Given the description of an element on the screen output the (x, y) to click on. 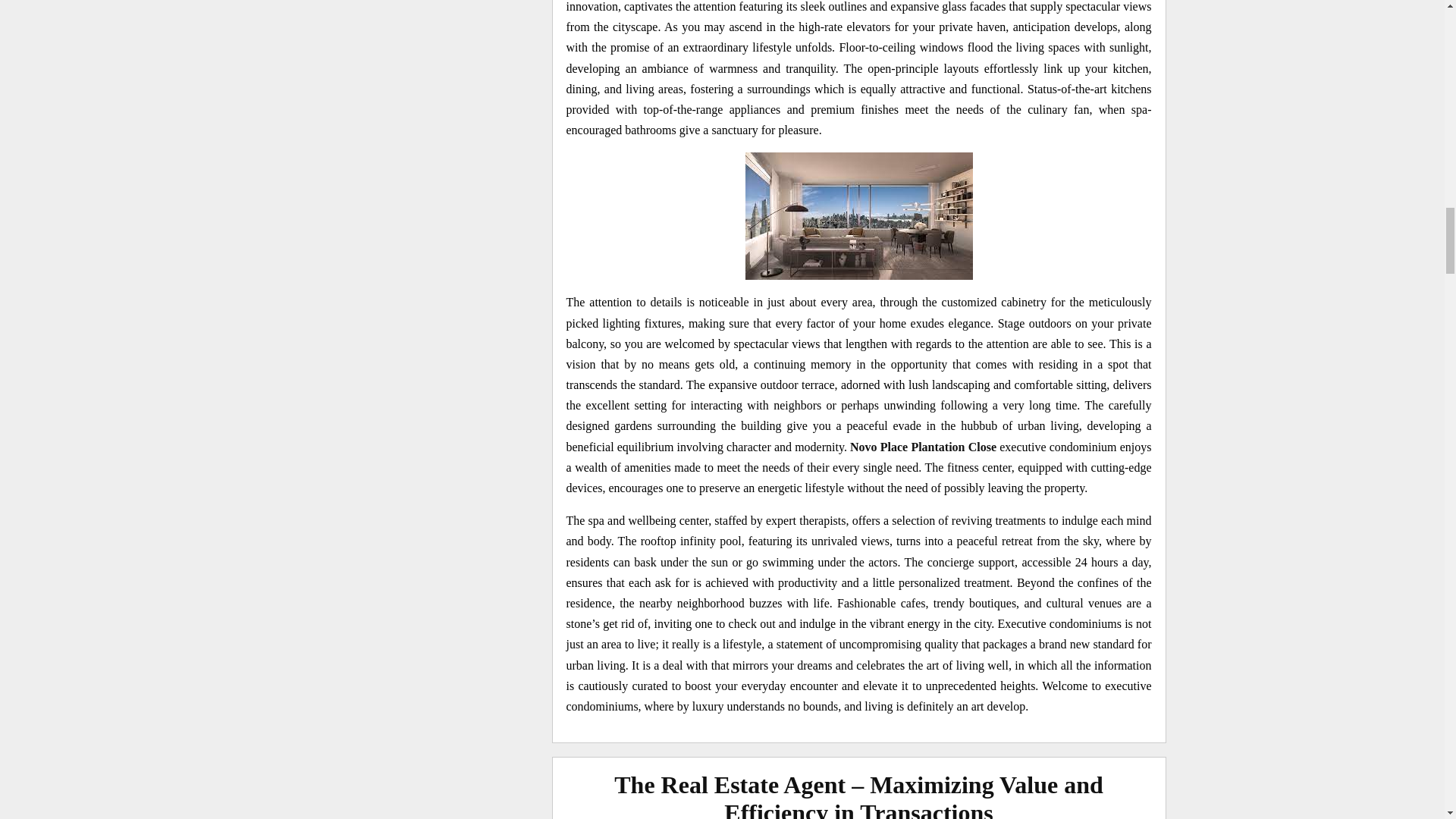
Novo Place Plantation Close (922, 446)
